Given the description of an element on the screen output the (x, y) to click on. 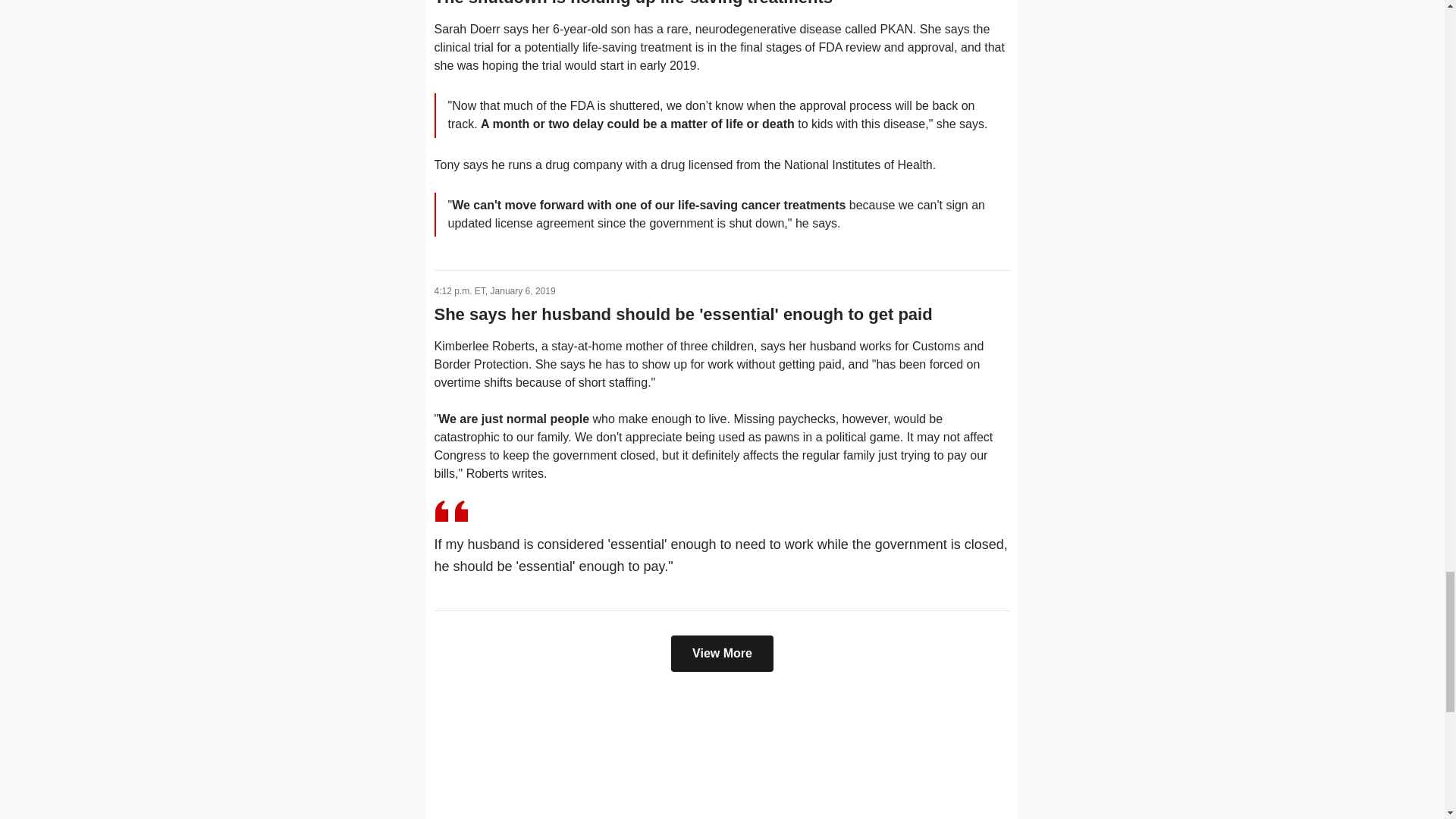
View More (722, 653)
